Given the description of an element on the screen output the (x, y) to click on. 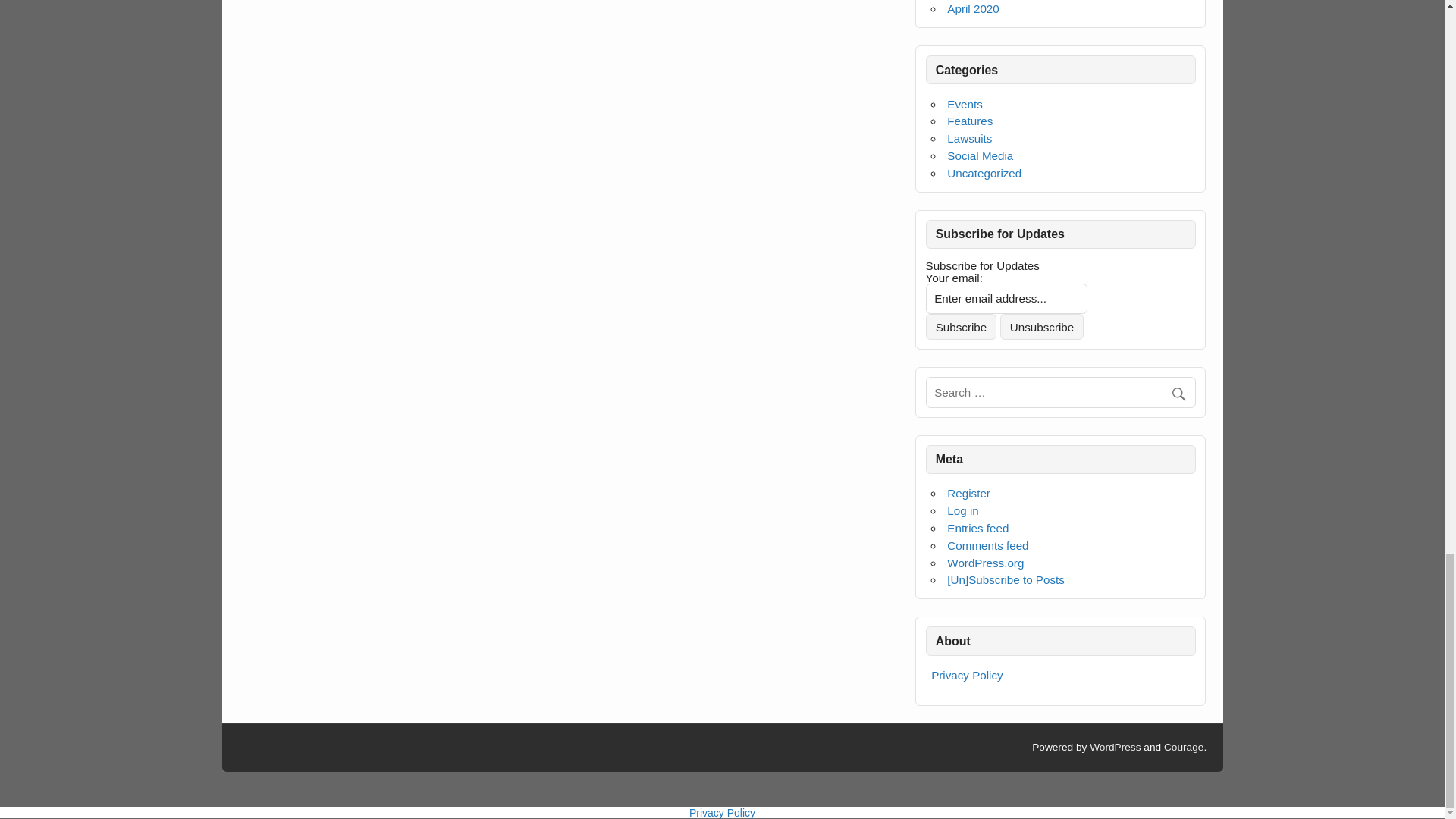
Unsubscribe (1042, 326)
Subscribe (961, 326)
April 2020 (972, 8)
WordPress (1114, 747)
Enter email address... (1006, 298)
Courage WordPress Theme (1183, 747)
